Given the description of an element on the screen output the (x, y) to click on. 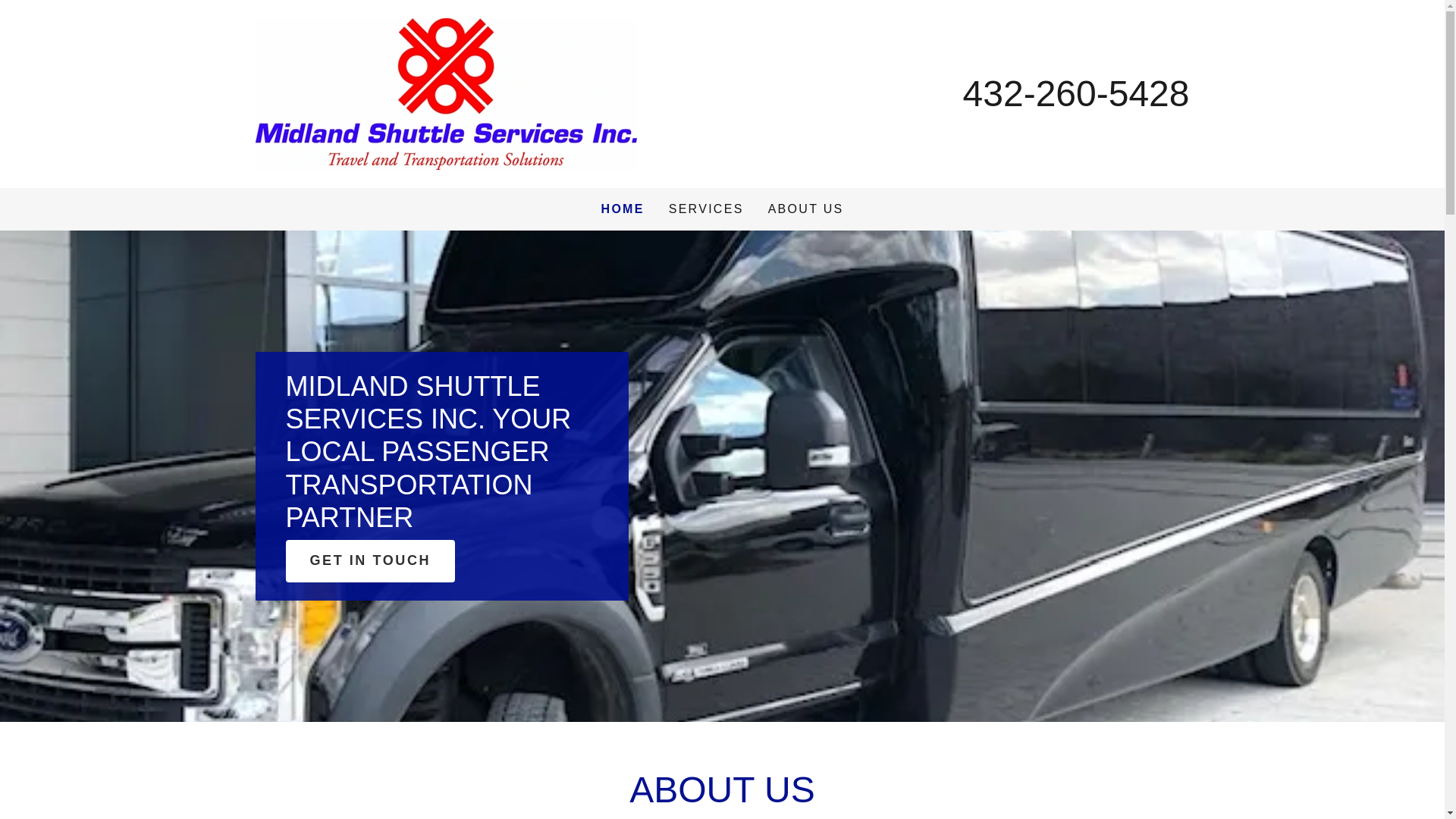
GET IN TOUCH (369, 560)
432-260-5428 (1075, 93)
ABOUT US (805, 208)
SERVICES (705, 208)
HOME (623, 208)
Midland Shuttle Services (445, 92)
